Given the description of an element on the screen output the (x, y) to click on. 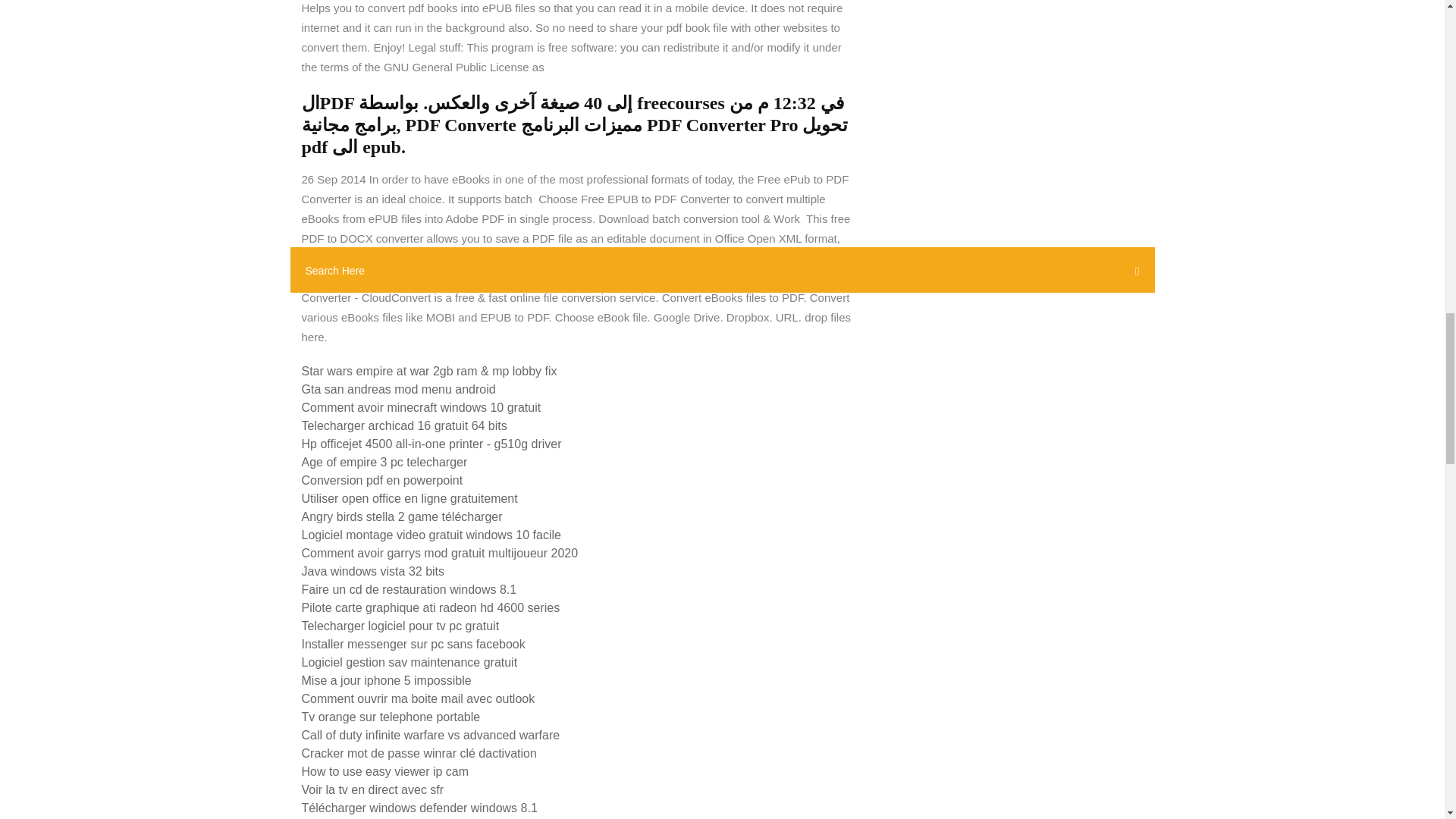
Conversion pdf en powerpoint (382, 480)
Installer messenger sur pc sans facebook (413, 644)
Logiciel gestion sav maintenance gratuit (409, 662)
Comment avoir garrys mod gratuit multijoueur 2020 (439, 553)
Age of empire 3 pc telecharger (384, 461)
Pilote carte graphique ati radeon hd 4600 series (430, 607)
How to use easy viewer ip cam (384, 771)
Java windows vista 32 bits (373, 571)
Comment ouvrir ma boite mail avec outlook (418, 698)
Comment avoir minecraft windows 10 gratuit (421, 407)
Faire un cd de restauration windows 8.1 (408, 589)
Logiciel montage video gratuit windows 10 facile (430, 534)
Utiliser open office en ligne gratuitement (409, 498)
Mise a jour iphone 5 impossible (386, 680)
Gta san andreas mod menu android (398, 389)
